Given the description of an element on the screen output the (x, y) to click on. 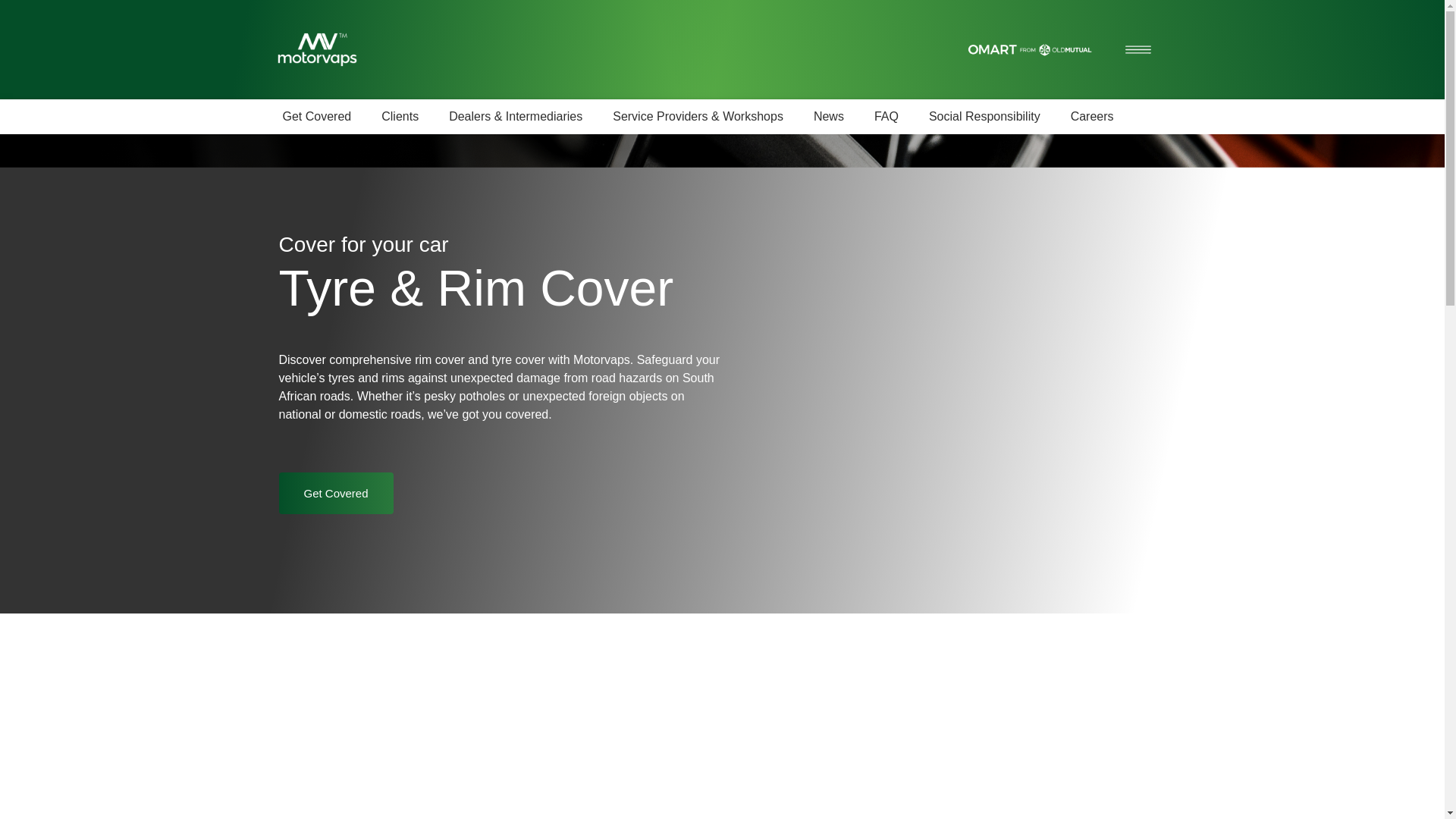
FAQ (886, 116)
Get Covered (316, 116)
Get Covered (336, 493)
Clients (399, 116)
News (828, 116)
Social Responsibility (984, 116)
Careers (1092, 116)
